Given the description of an element on the screen output the (x, y) to click on. 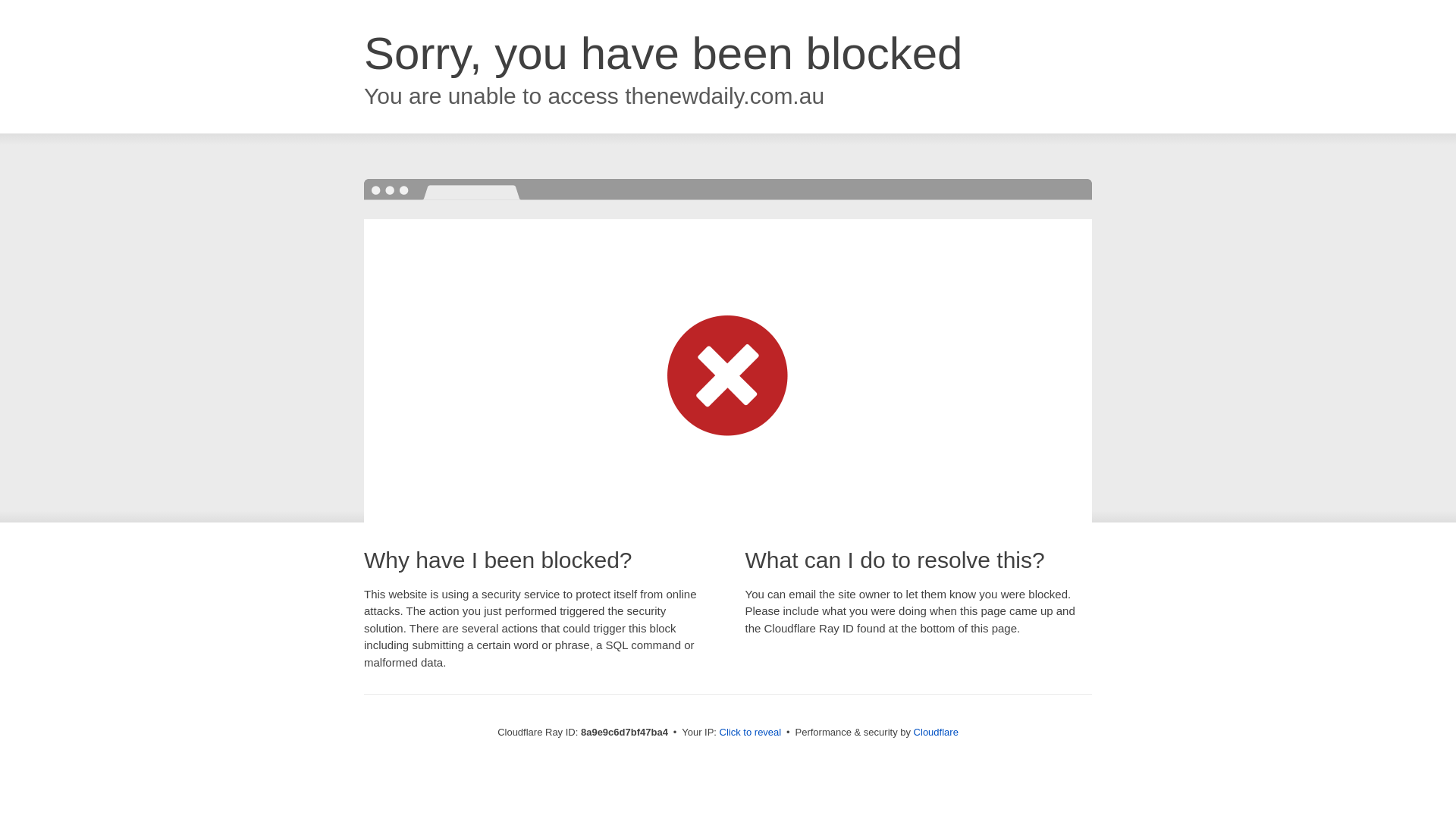
Click to reveal (750, 732)
Cloudflare (936, 731)
